Given the description of an element on the screen output the (x, y) to click on. 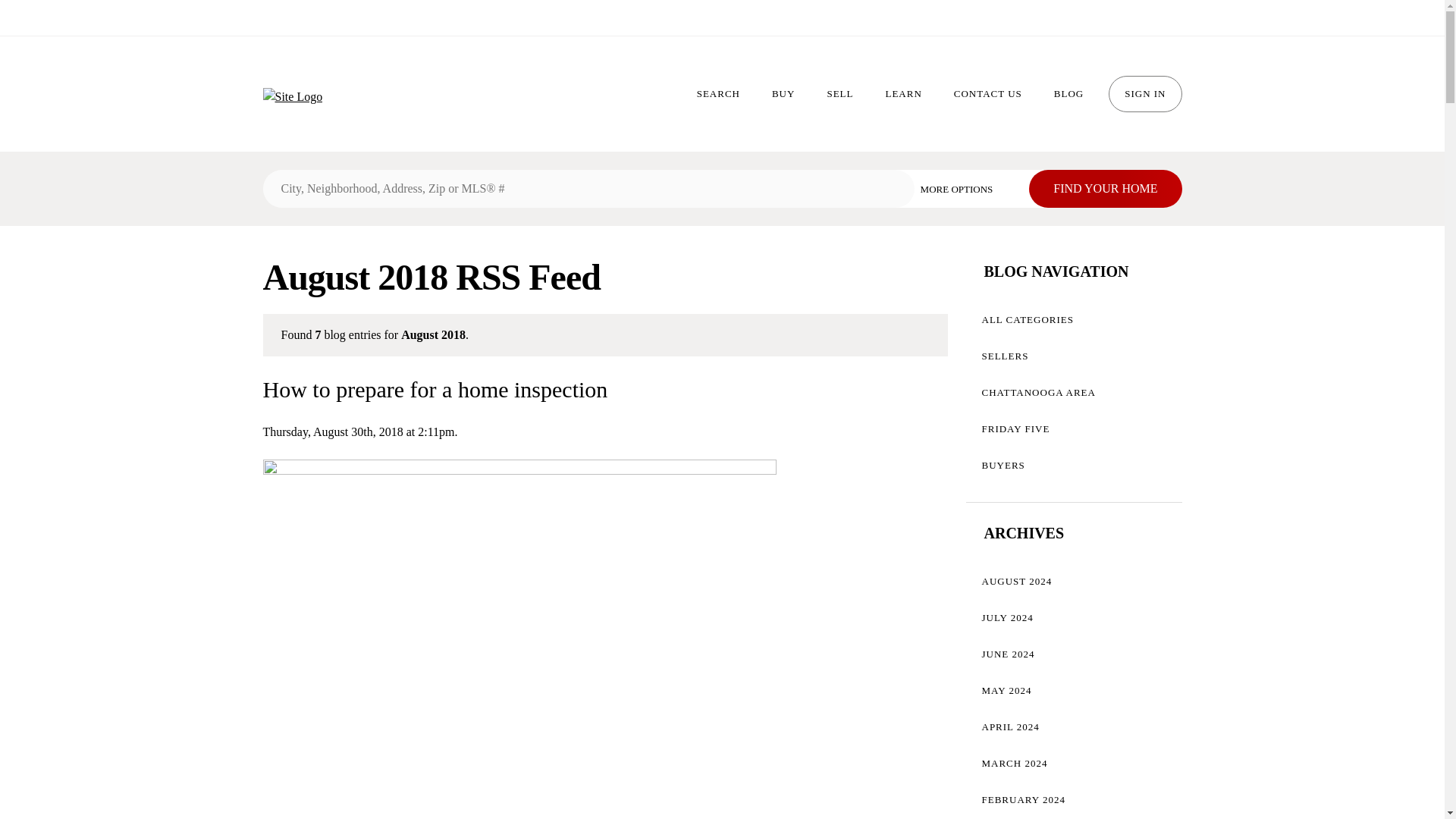
SIGN IN (1144, 94)
SELL (839, 94)
BLOG (1068, 94)
LEARN (903, 94)
BUY (782, 94)
FRIDAY FIVE (1074, 429)
MORE OPTIONS (968, 188)
ALL CATEGORIES (1074, 320)
How to prepare for a home inspection (434, 389)
BUYERS (1074, 465)
